Given the description of an element on the screen output the (x, y) to click on. 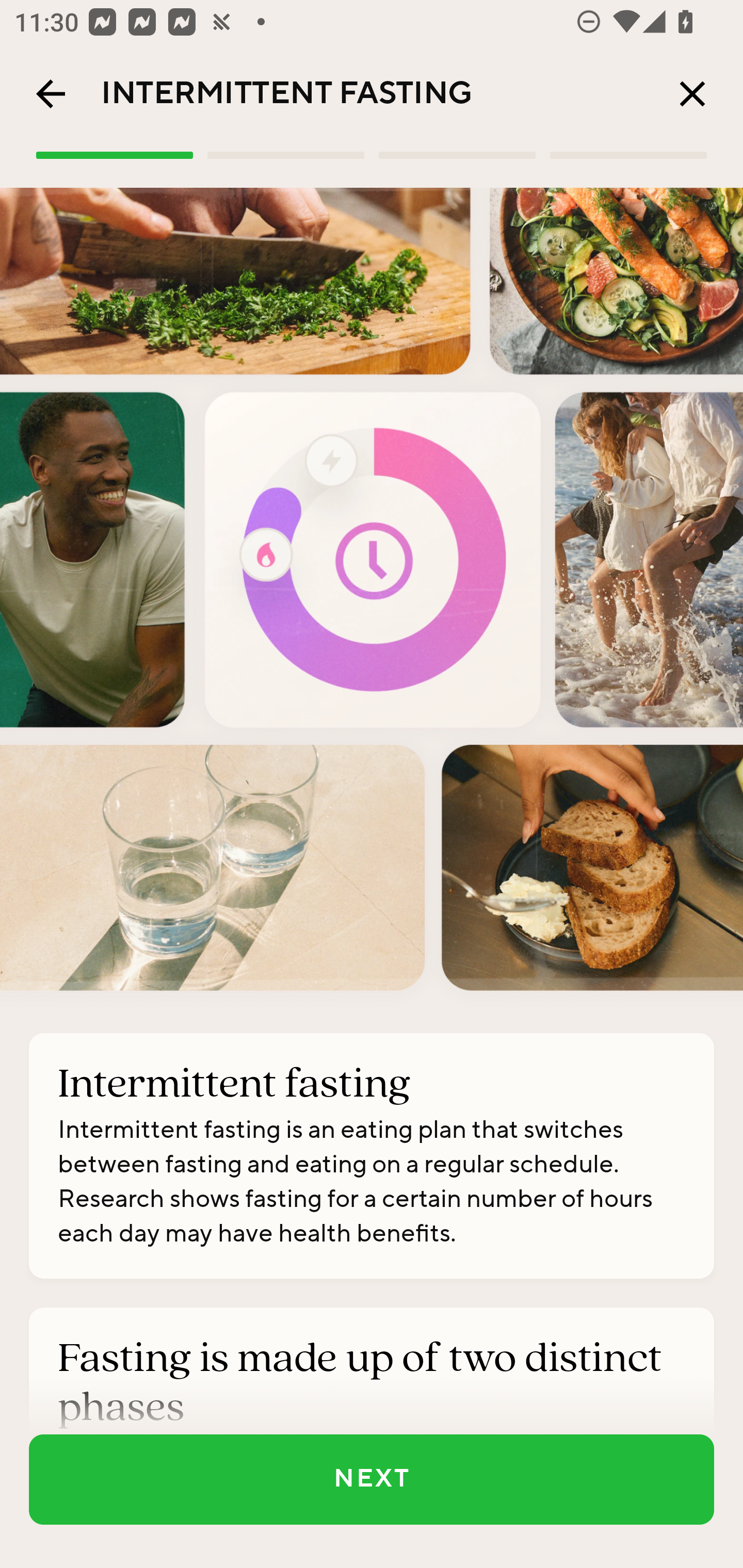
NEXT (371, 1479)
